Given the description of an element on the screen output the (x, y) to click on. 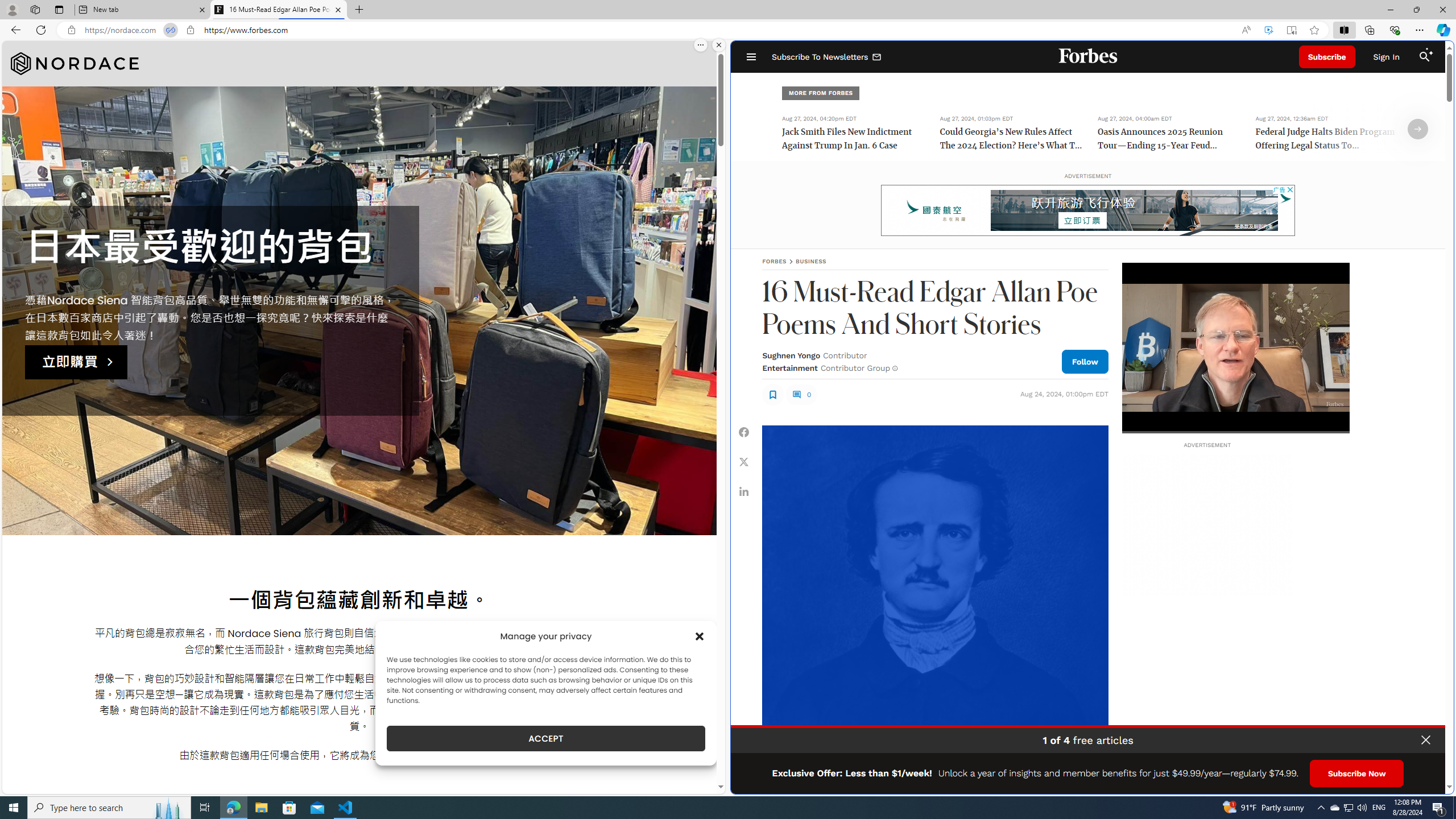
Arrow Right (1417, 129)
ACCEPT (545, 738)
Sign In (1386, 56)
Forbes Logo (1088, 56)
Entertainment (789, 367)
Jack Smith Files New Indictment Against Trump In Jan. 6 Case (853, 139)
Close tab (338, 9)
Nordace (74, 63)
Share Facebook (743, 431)
Tabs in split screen (170, 29)
Open Navigation Menu (750, 56)
Enhance video (1268, 29)
Subscribe Now (1356, 773)
Close (1442, 9)
